Given the description of an element on the screen output the (x, y) to click on. 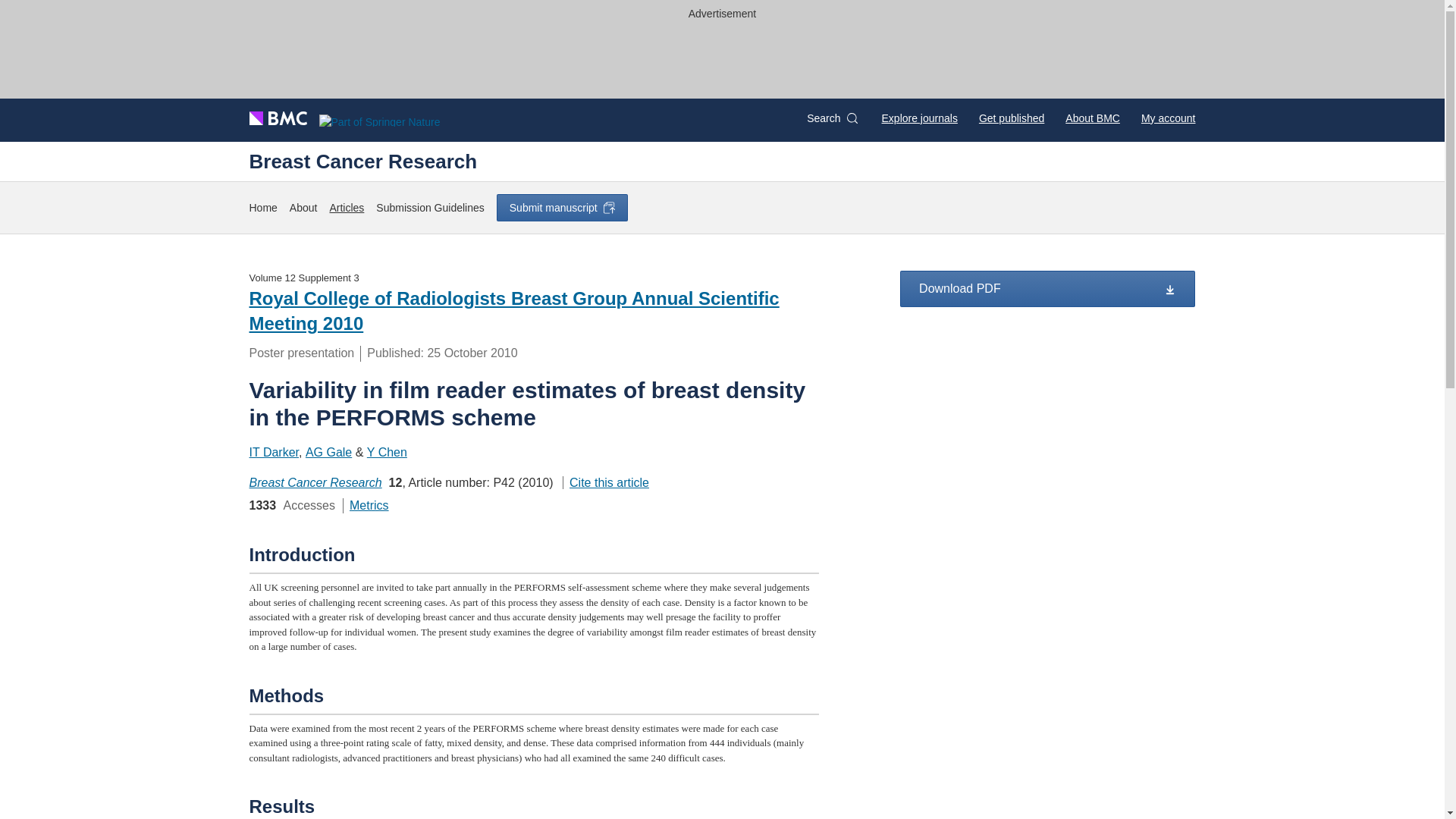
My account (1168, 118)
Home (262, 208)
Y Chen (386, 451)
About (303, 208)
IT Darker (273, 451)
About BMC (1092, 118)
Cite this article (605, 481)
Get published (1010, 118)
Breast Cancer Research (314, 481)
